Given the description of an element on the screen output the (x, y) to click on. 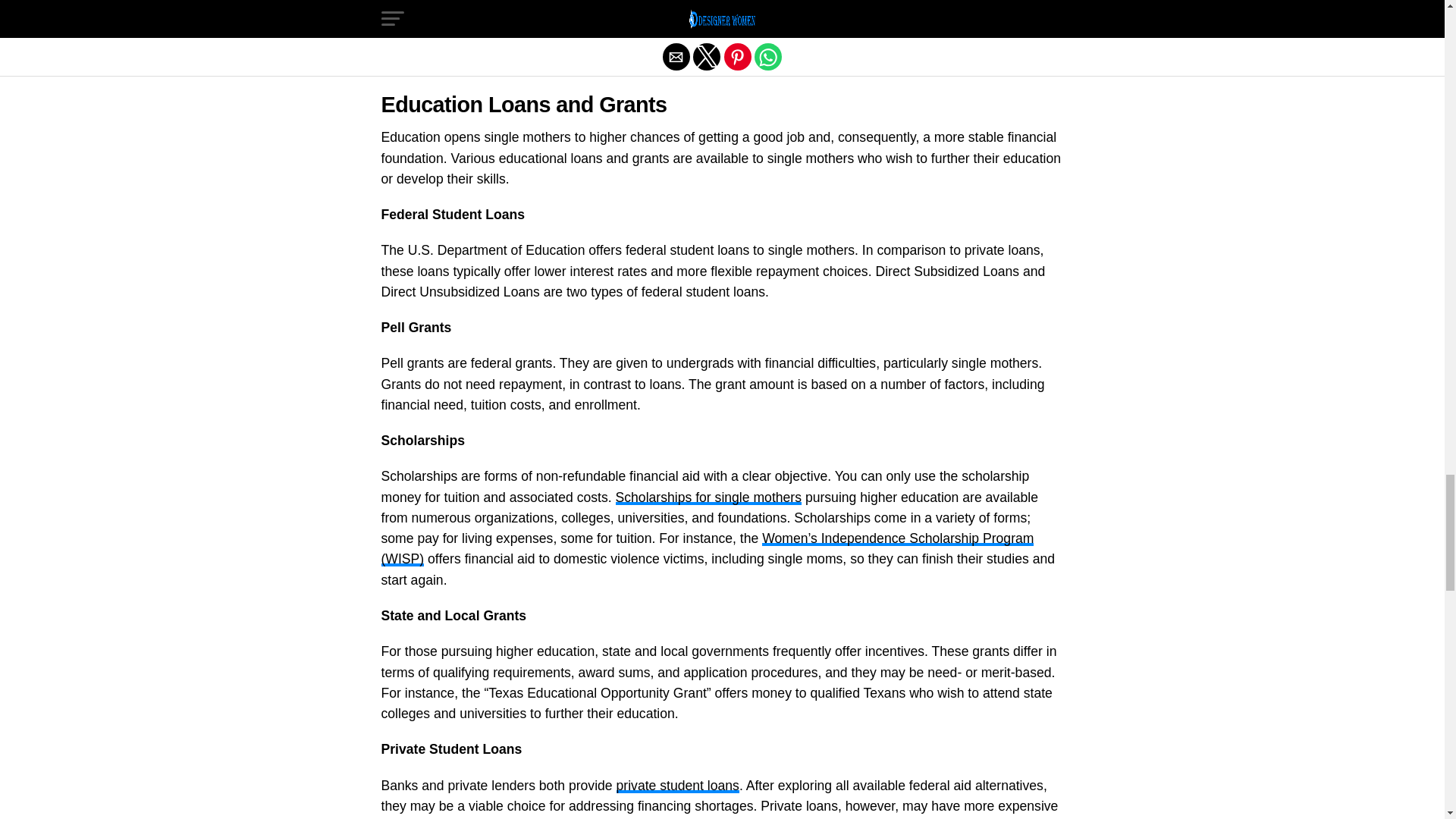
private student loans (677, 785)
Scholarships for single mothers (708, 497)
